Given the description of an element on the screen output the (x, y) to click on. 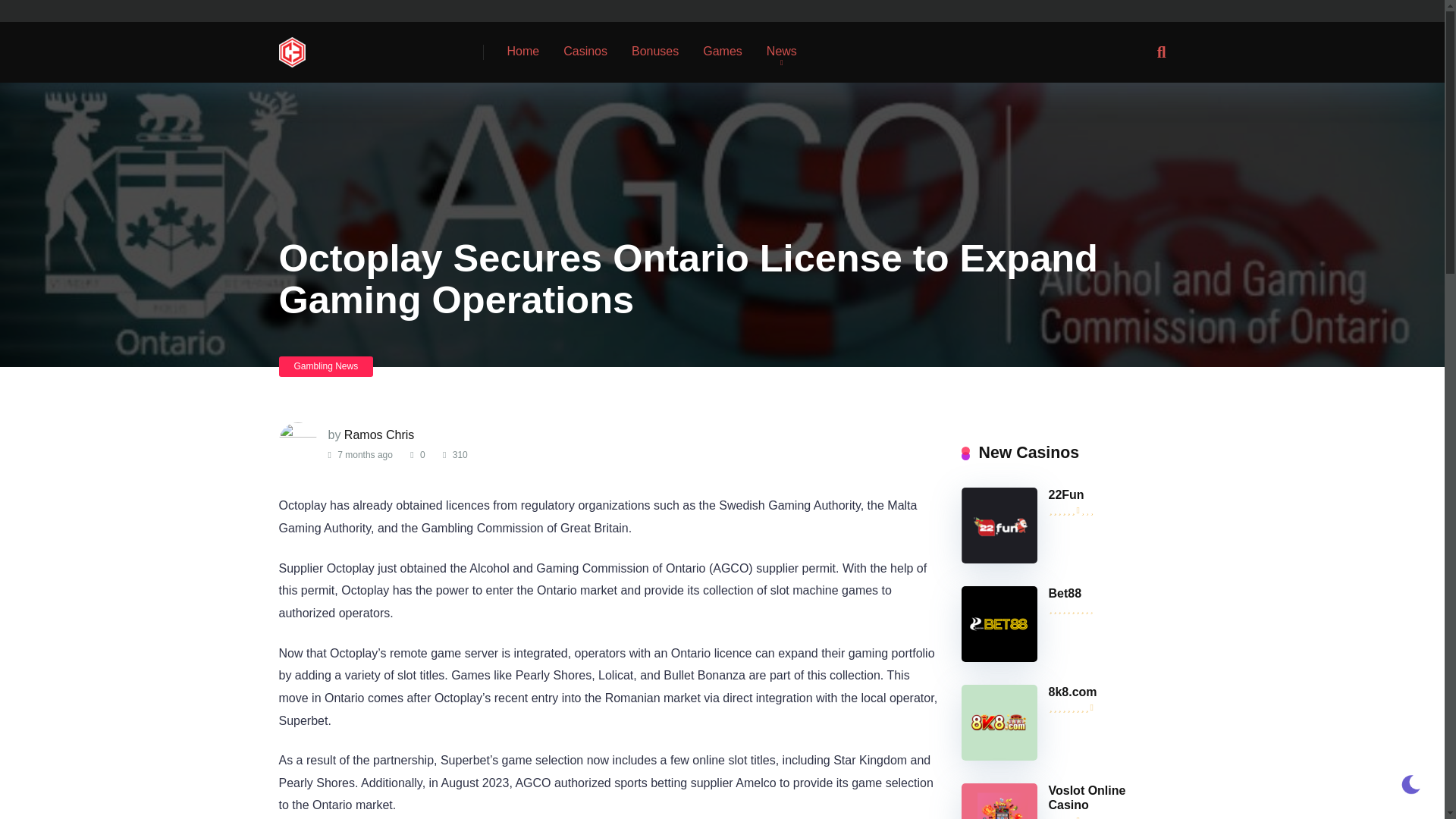
8k8.com (1072, 692)
22Fun (1065, 495)
8k8.com (1072, 692)
8k8.com (998, 756)
Bonuses (655, 52)
Ramos Chris (378, 434)
Bet88 (1064, 593)
News (781, 52)
Voslot Online Casino (1086, 797)
Casinos (585, 52)
Bet88 (998, 657)
22Fun (998, 558)
Bet88 (1064, 593)
Home (523, 52)
Voslot Online Casino (1086, 797)
